Given the description of an element on the screen output the (x, y) to click on. 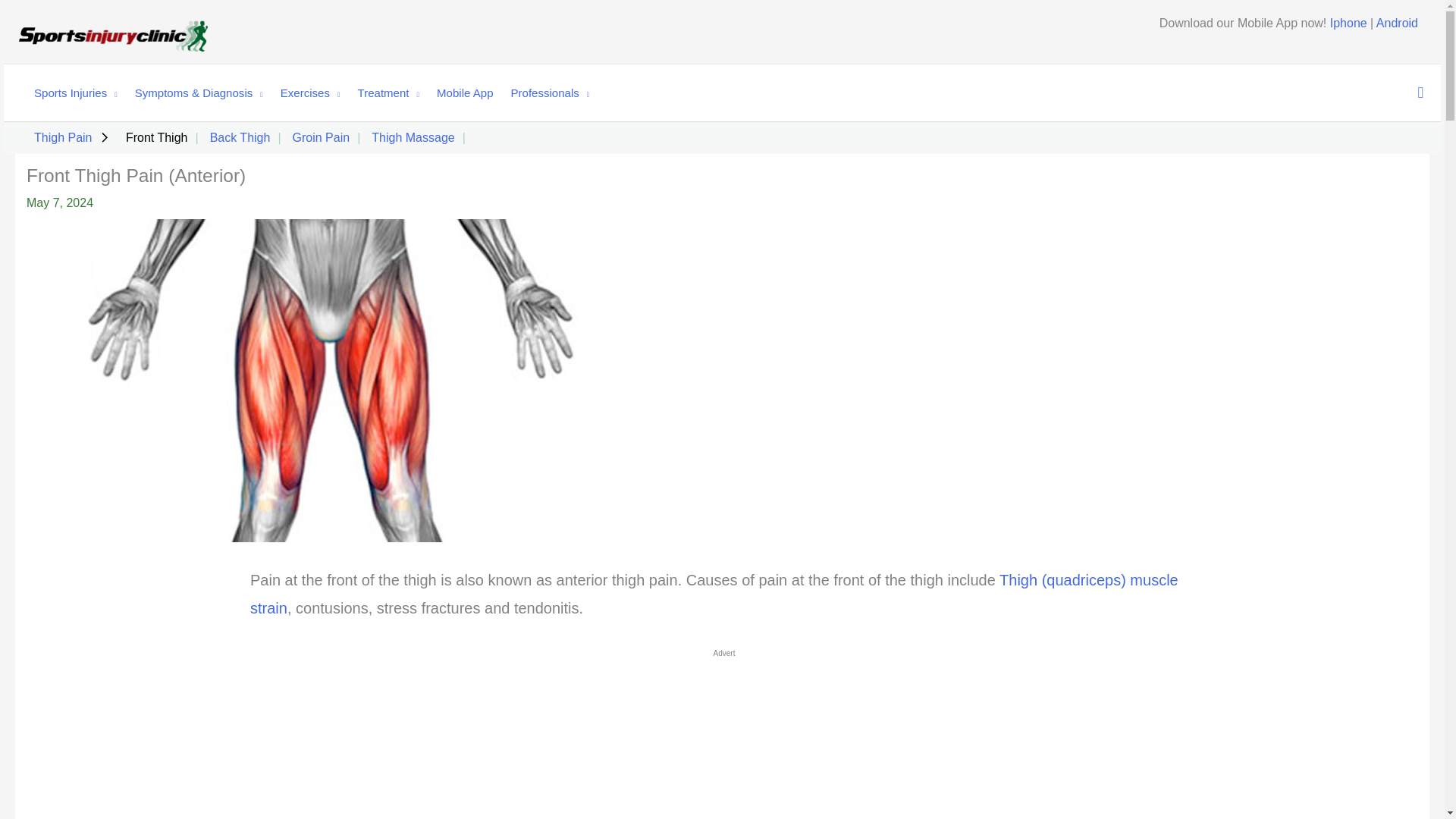
Android (1396, 22)
Iphone (1348, 22)
Sports Injuries (68, 92)
